Given the description of an element on the screen output the (x, y) to click on. 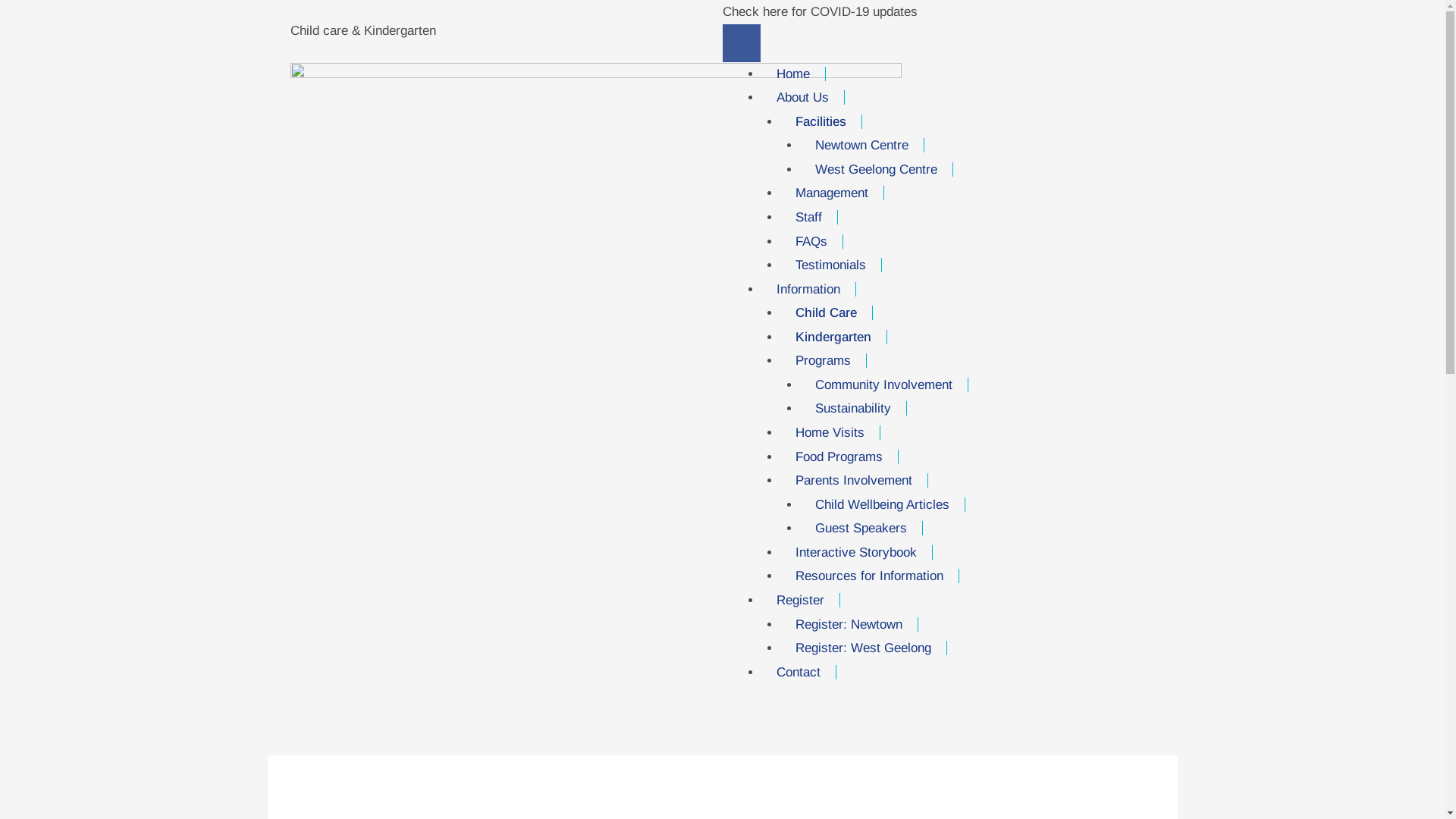
Register: West Geelong Element type: text (863, 647)
Resources for Information Element type: text (869, 575)
About Us Element type: text (802, 97)
Sustainability Element type: text (852, 408)
Child Care Element type: text (826, 312)
West Geelong Centre Element type: text (875, 169)
Parents Involvement Element type: text (854, 480)
Interactive Storybook Element type: text (856, 552)
Register: Newtown Element type: text (849, 624)
Management Element type: text (832, 192)
Community Involvement Element type: text (883, 384)
Register Element type: text (800, 600)
Information Element type: text (808, 289)
Home Element type: text (793, 73)
Testimonials Element type: text (830, 264)
Facilities Element type: text (821, 121)
Child Wellbeing Articles Element type: text (881, 504)
Staff Element type: text (808, 217)
Newtown Centre Element type: text (861, 145)
Programs Element type: text (823, 360)
Home Visits Element type: text (830, 432)
Kindergarten Element type: text (833, 336)
Food Programs Element type: text (839, 456)
Guest Speakers Element type: text (860, 527)
Contact Element type: text (798, 672)
FAQs Element type: text (811, 240)
